Given the description of an element on the screen output the (x, y) to click on. 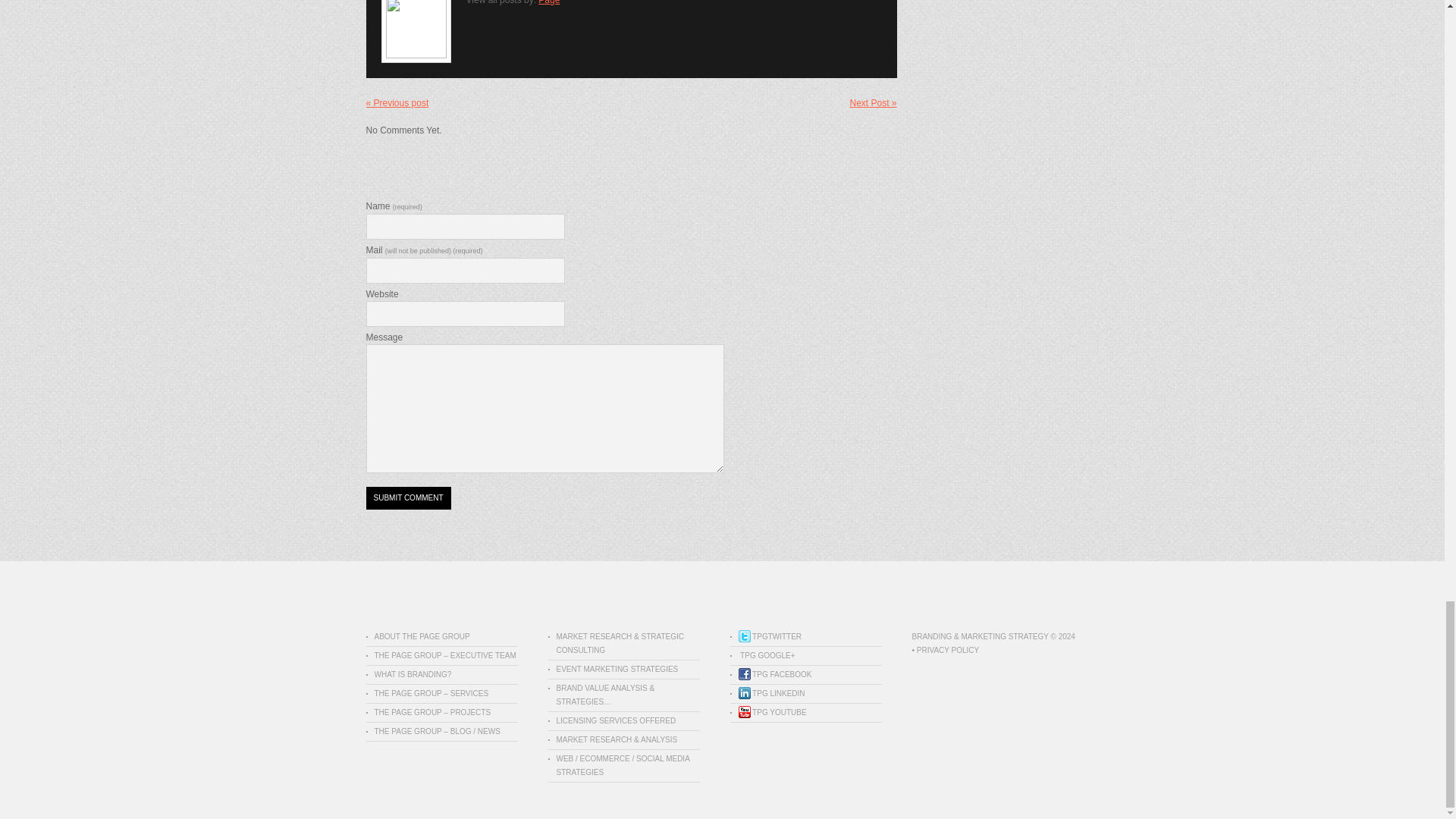
Submit Comment (407, 497)
Posts by Page (548, 2)
twitter (770, 636)
